Given the description of an element on the screen output the (x, y) to click on. 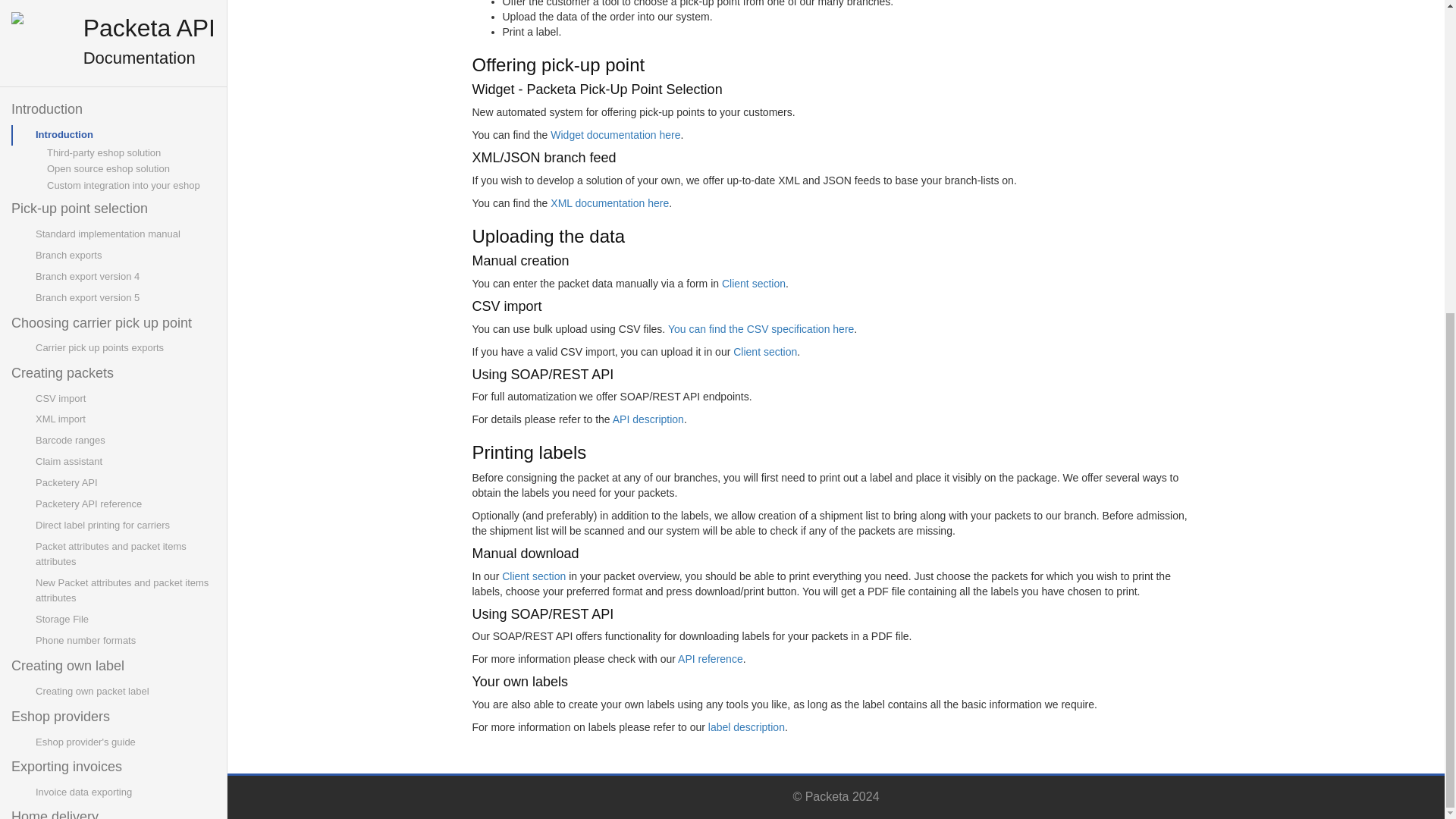
Storage File (124, 120)
label description (745, 727)
Phone number formats (124, 141)
Client section (764, 351)
Widget documentation here (614, 134)
Creating own packet label (124, 192)
Invoice data exporting (124, 293)
Packetery API reference (124, 7)
Client section (754, 283)
Packet attributes and packet items attributes (124, 54)
API reference (710, 658)
You can find the CSV specification here (760, 328)
New Packet attributes and packet items attributes (124, 91)
Direct label printing for carriers (124, 25)
Client section (534, 576)
